Given the description of an element on the screen output the (x, y) to click on. 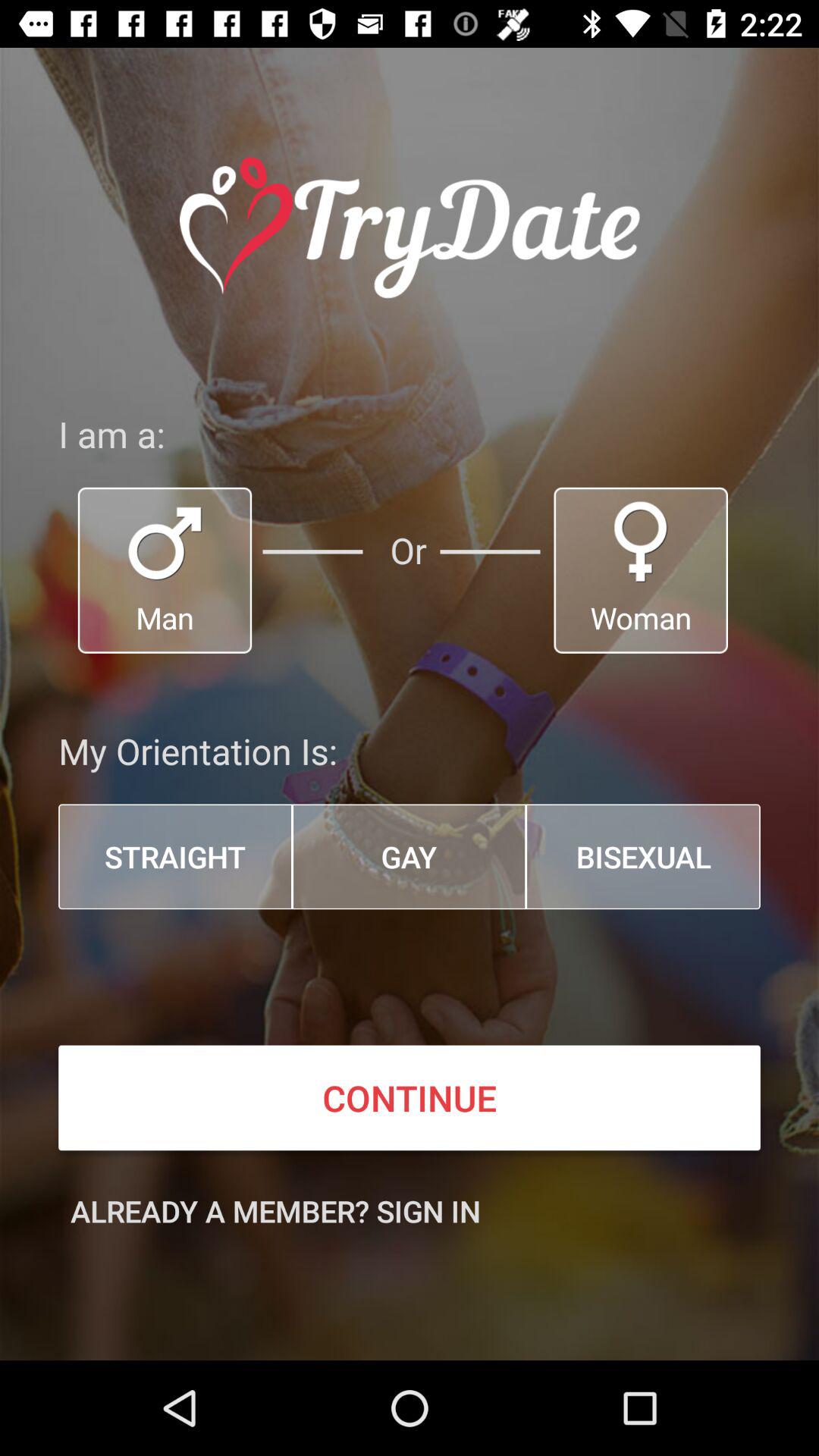
women symbol icon (640, 570)
